Given the description of an element on the screen output the (x, y) to click on. 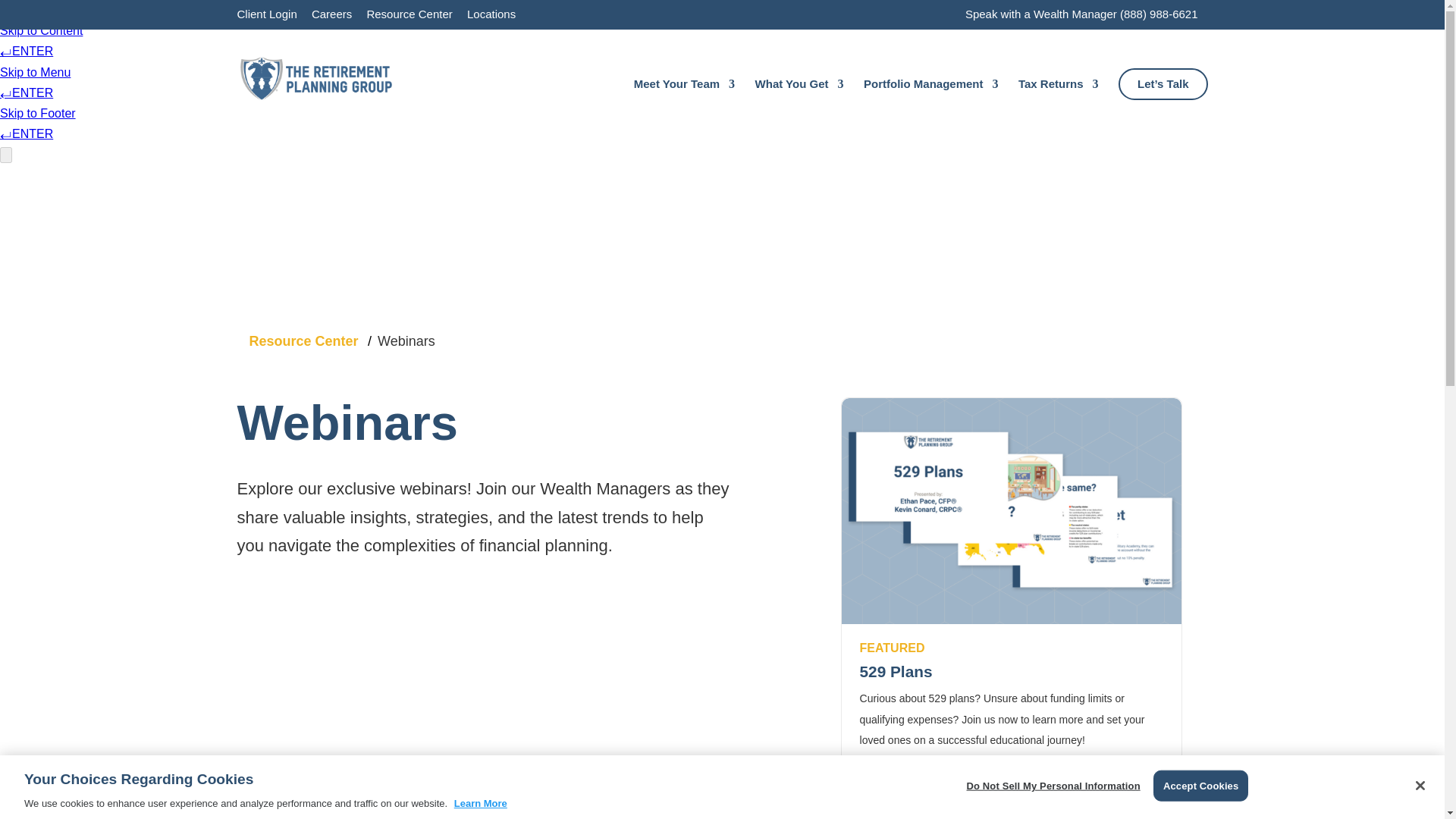
Tax Returns (1058, 102)
Meet Your Team (684, 102)
Portfolio Management (930, 102)
Careers (331, 17)
What You Get (799, 102)
Resource Center (408, 17)
Locations (491, 17)
Client Login (266, 17)
